Given the description of an element on the screen output the (x, y) to click on. 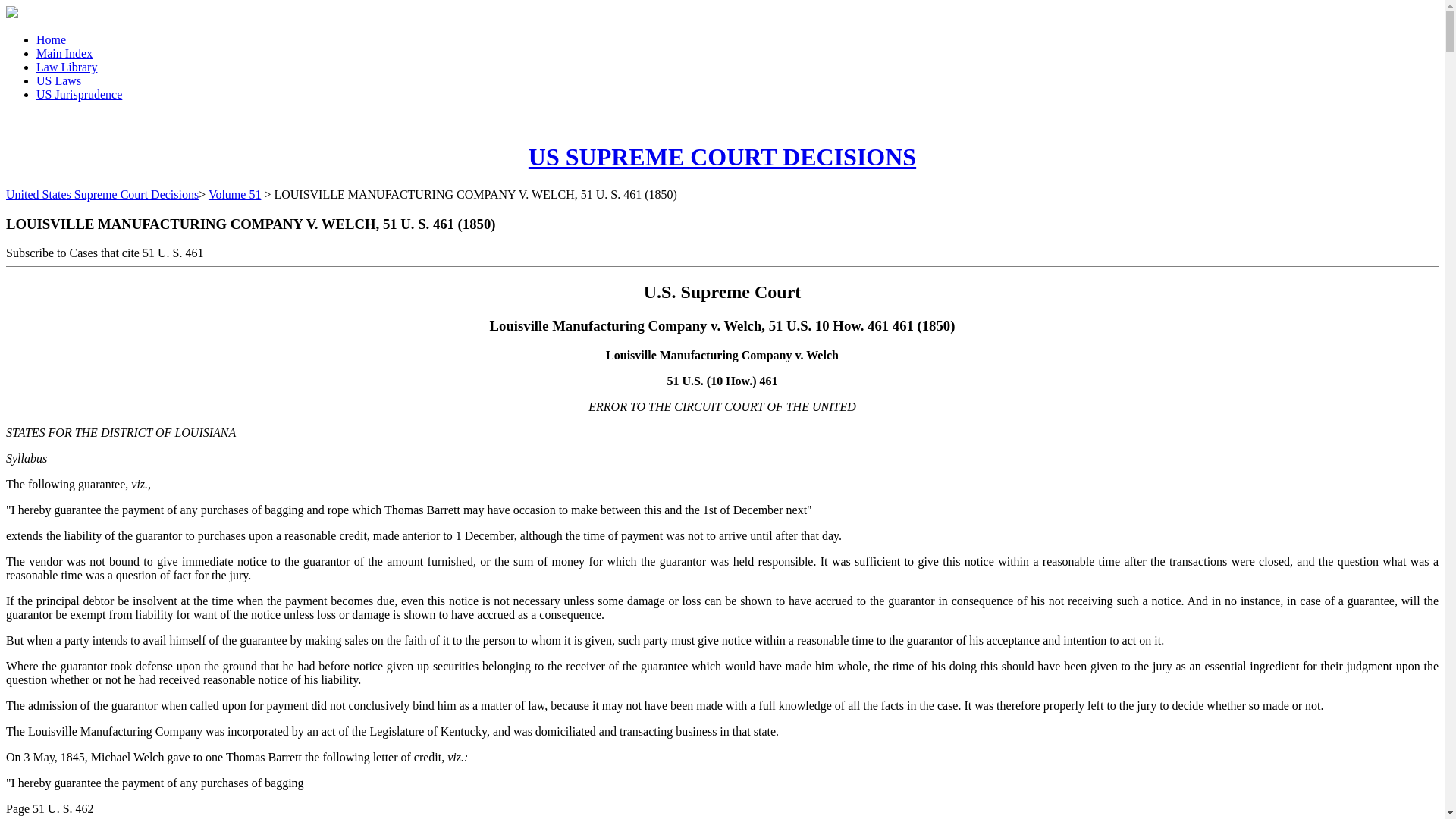
US SUPREME COURT DECISIONS (721, 156)
Volume 51 (234, 194)
Home (50, 39)
US Laws (58, 80)
Page 51 U. S. 462 (49, 808)
United States Supreme Court Decisions - On-Line (721, 156)
US Jurisprudence (79, 93)
Law Library (66, 66)
United States Supreme Court Decisions (101, 194)
Main Index (64, 52)
